Given the description of an element on the screen output the (x, y) to click on. 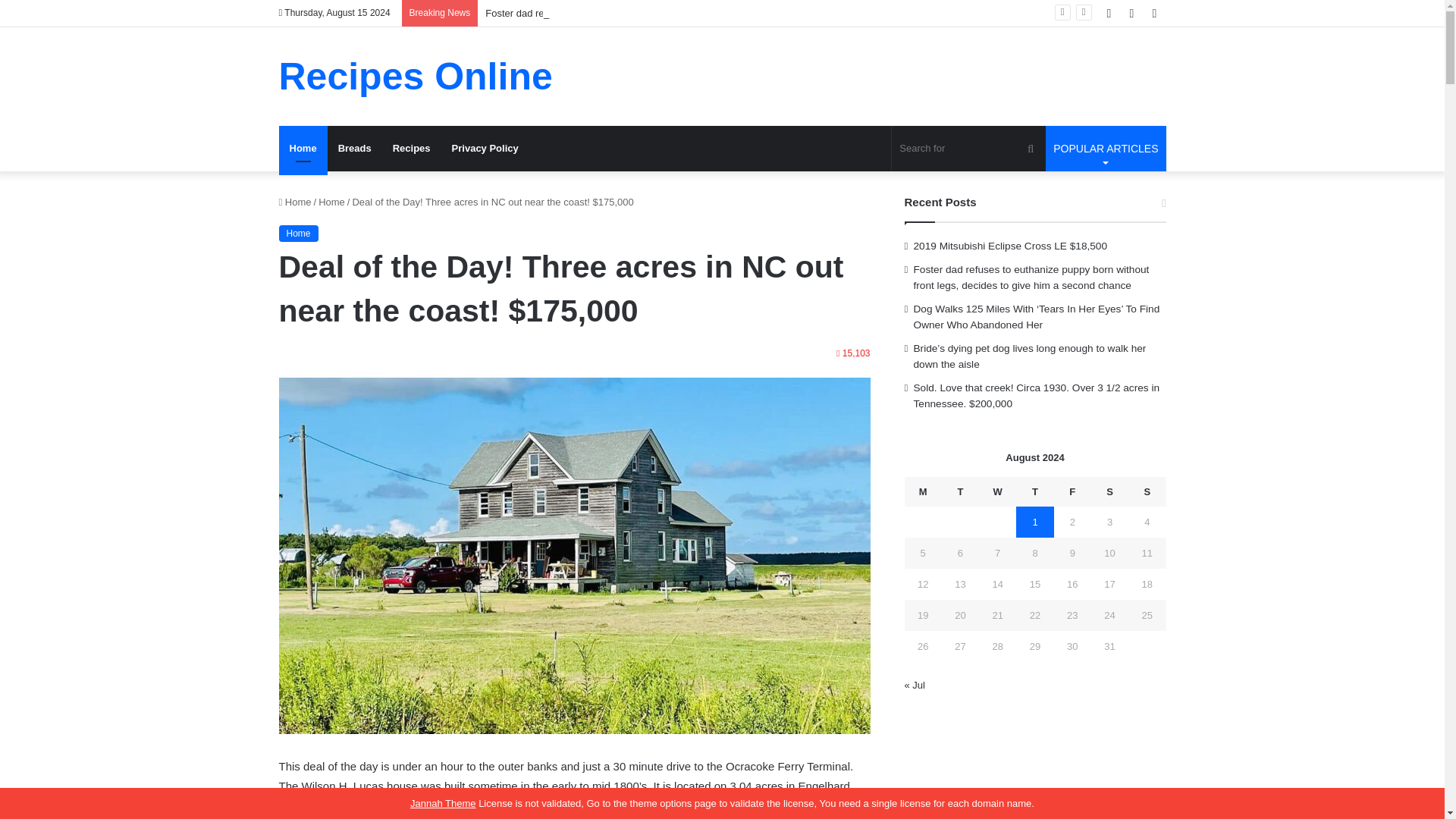
Breads (354, 148)
Privacy Policy (485, 148)
Home (295, 202)
Recipes Online (416, 76)
Recipes Online (416, 76)
Search for (968, 148)
Home (298, 233)
Home (331, 202)
